Given the description of an element on the screen output the (x, y) to click on. 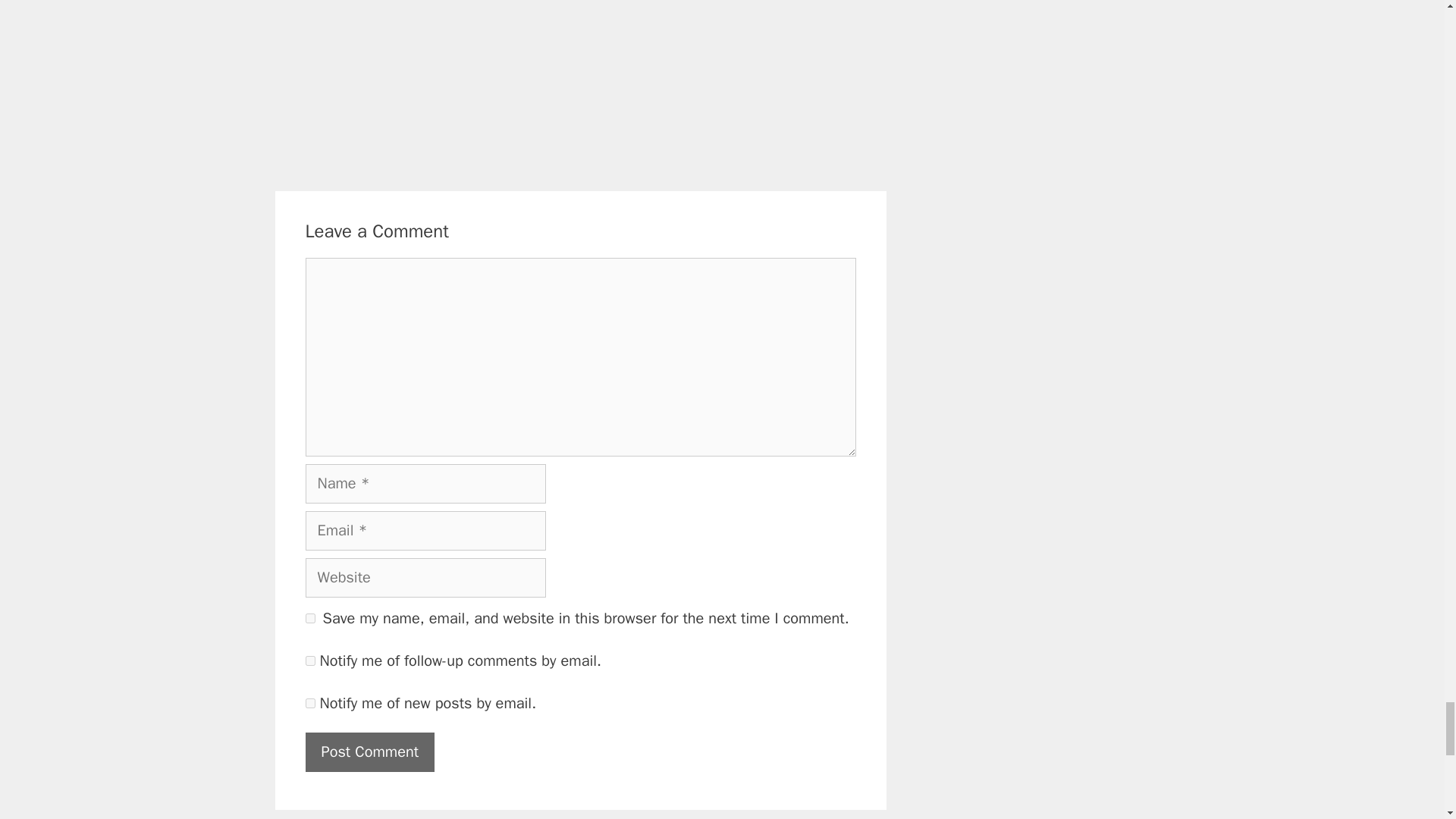
subscribe (309, 703)
subscribe (309, 660)
yes (309, 618)
Post Comment (368, 752)
